Given the description of an element on the screen output the (x, y) to click on. 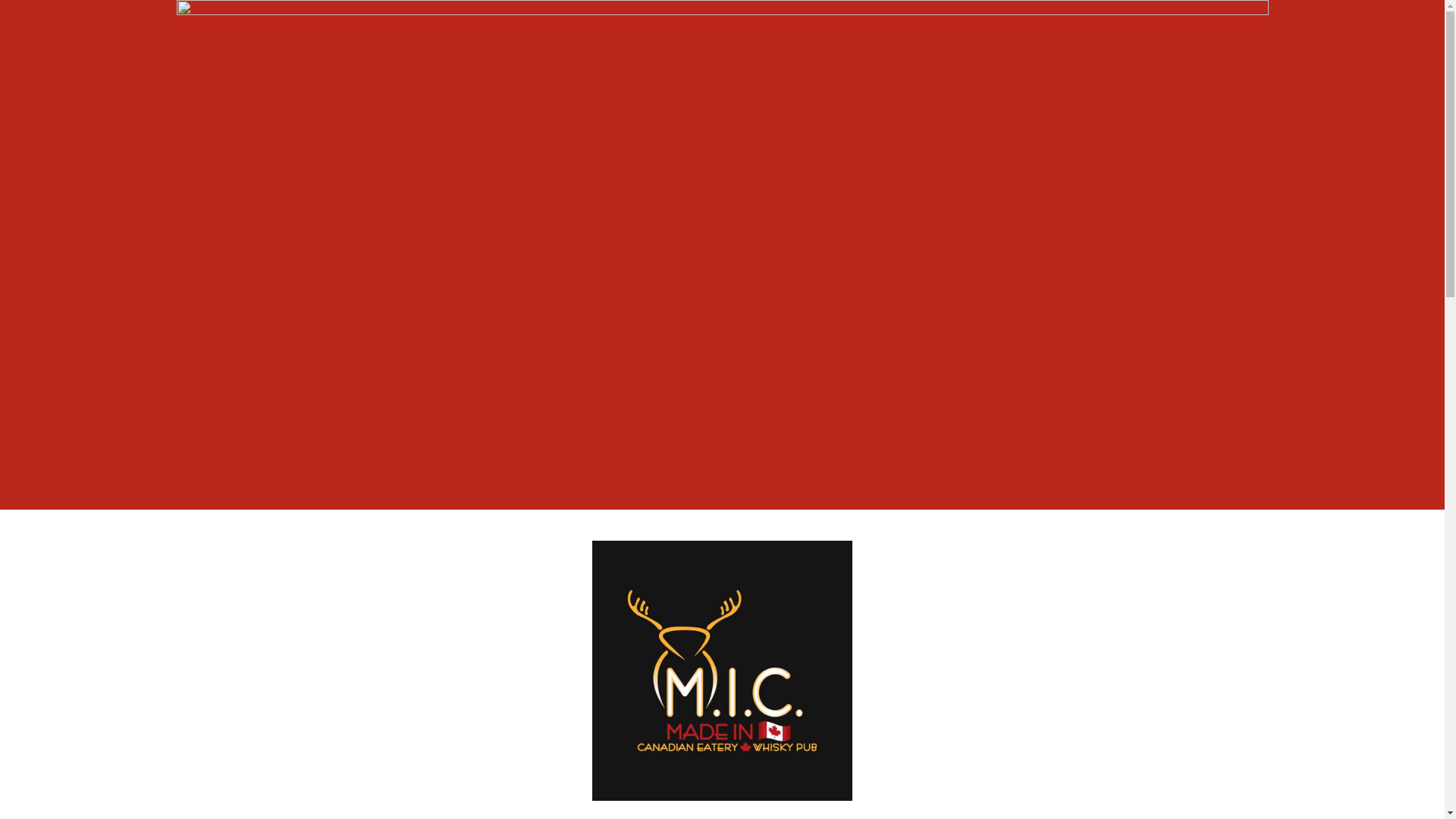
IFB-2023-web-banner-1440x672 Element type: hover (721, 254)
MIC-01 Element type: hover (722, 670)
